Given the description of an element on the screen output the (x, y) to click on. 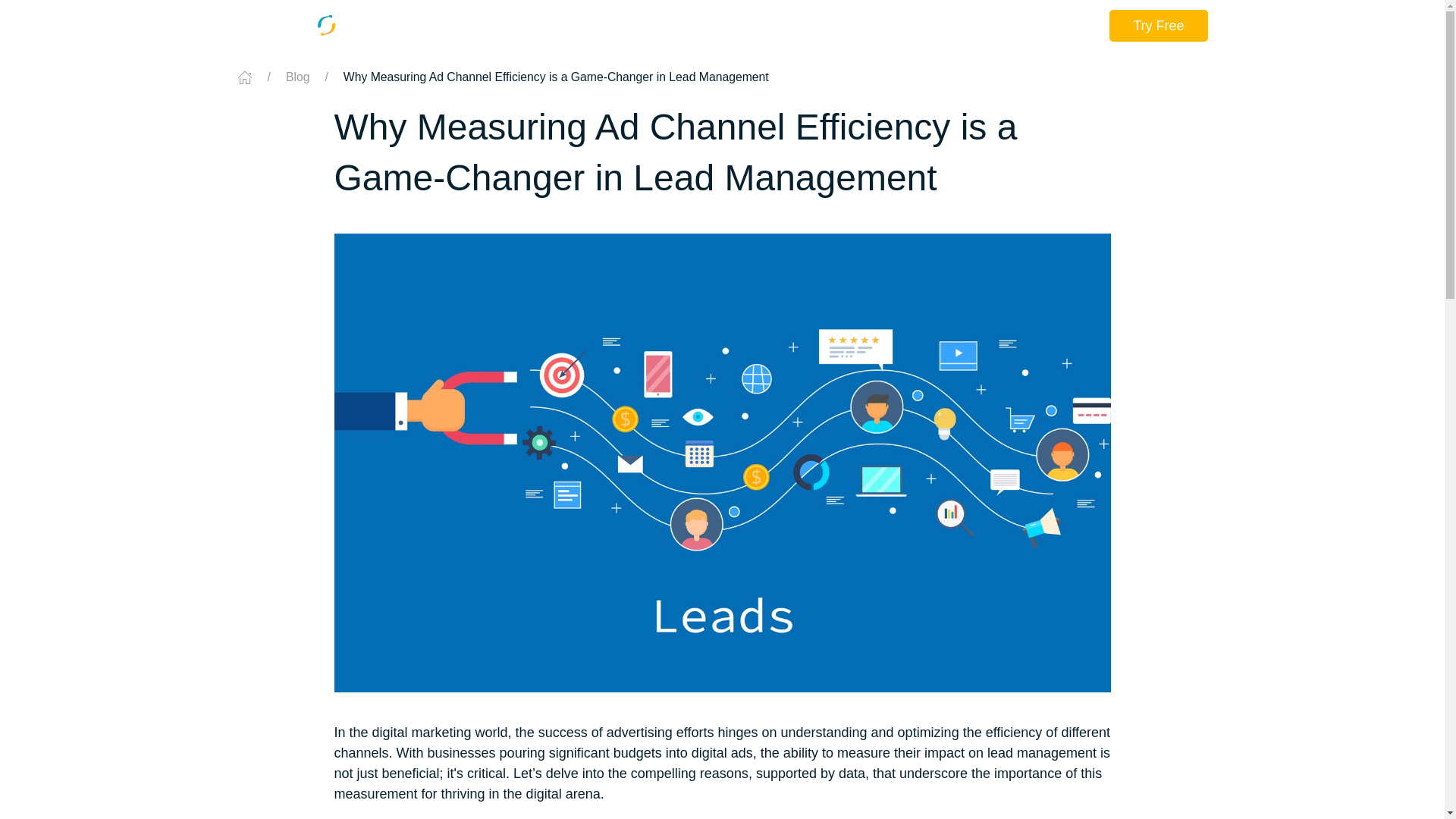
Blog (297, 76)
Golden Call (662, 25)
Pricing (928, 25)
Videos (992, 25)
Customer Tracking Module (803, 25)
Blog (1050, 25)
Try Free (1158, 25)
Why Leadport? (557, 25)
